Given the description of an element on the screen output the (x, y) to click on. 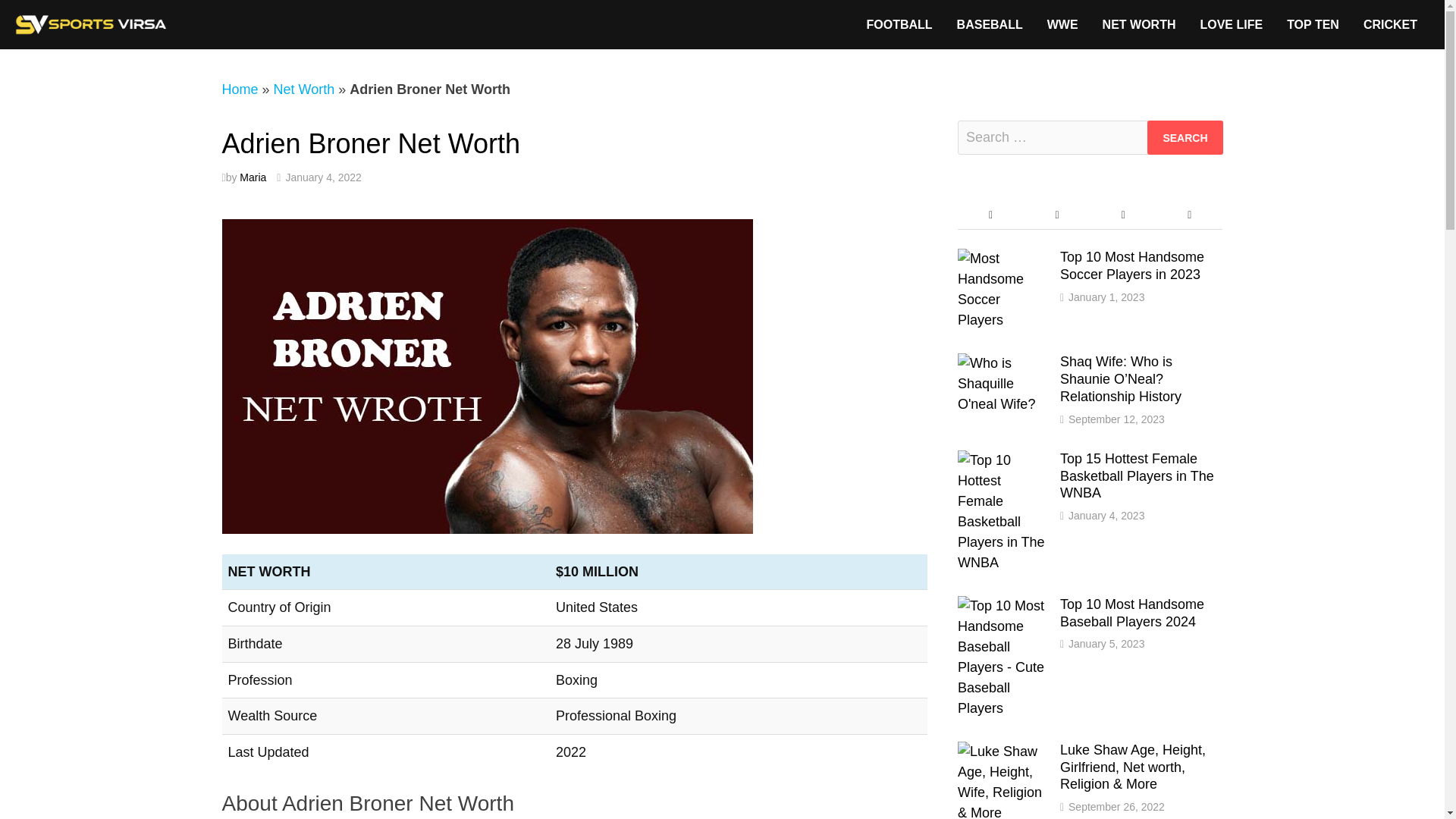
BASEBALL (989, 24)
January 4, 2022 (323, 177)
Net Worth (303, 89)
NET WORTH (1139, 24)
Search (1185, 137)
Top 15 Hottest Female Basketball Players in The WNBA (1003, 459)
FOOTBALL (898, 24)
TOP TEN (1313, 24)
Top 10 Most Handsome Baseball Players 2024 (1003, 605)
LOVE LIFE (1231, 24)
